Given the description of an element on the screen output the (x, y) to click on. 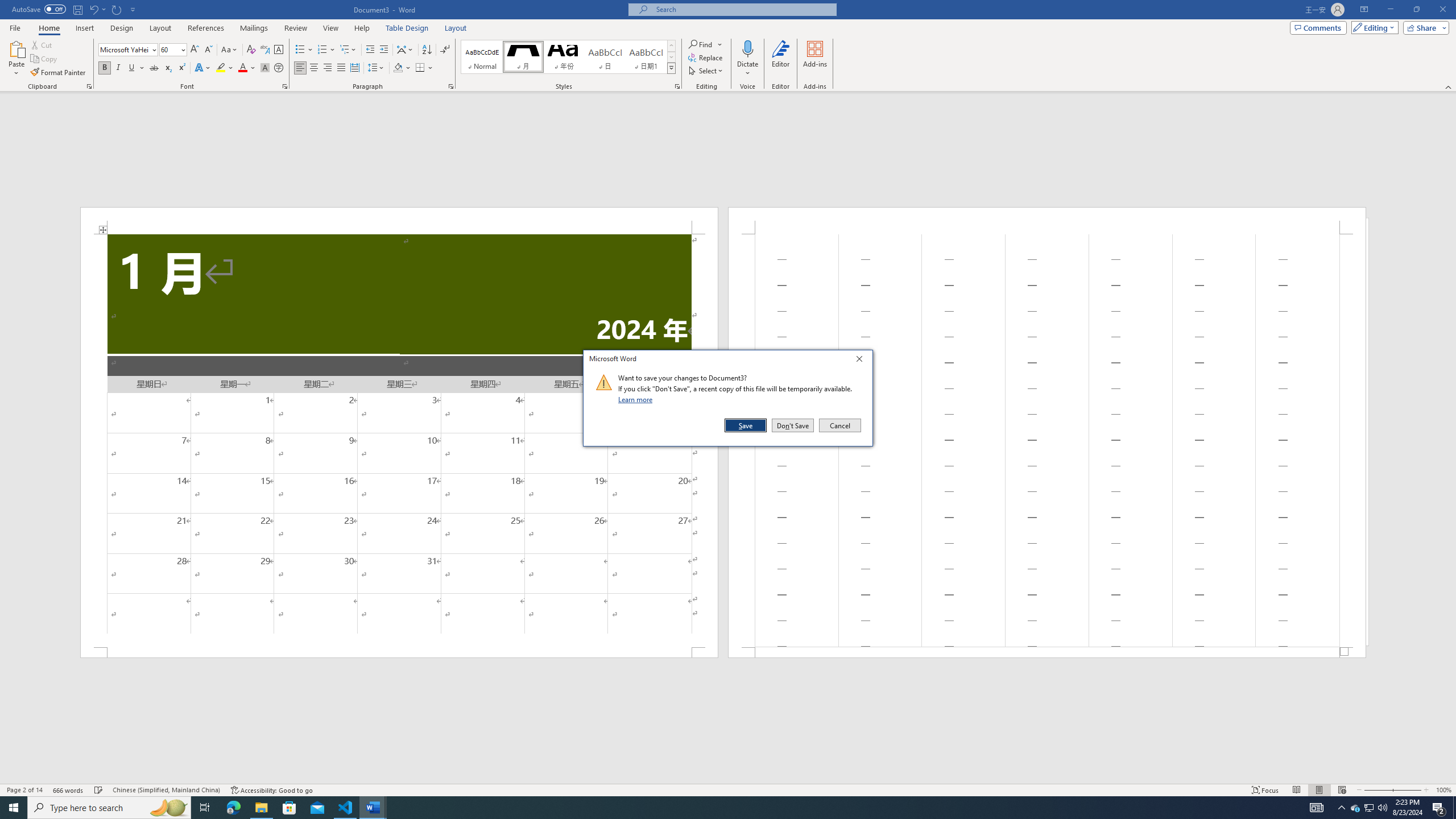
Enclose Characters... (278, 67)
References (205, 28)
View (330, 28)
Replace... (705, 56)
Read Mode (1296, 790)
Font Size (169, 49)
Open (182, 49)
Spelling and Grammar Check Checking (98, 790)
Visual Studio Code - 1 running window (345, 807)
File Tab (15, 27)
Shading RGB(0, 0, 0) (397, 67)
Dictate (747, 58)
Q2790: 100% (1382, 807)
Customize Quick Access Toolbar (133, 9)
